Given the description of an element on the screen output the (x, y) to click on. 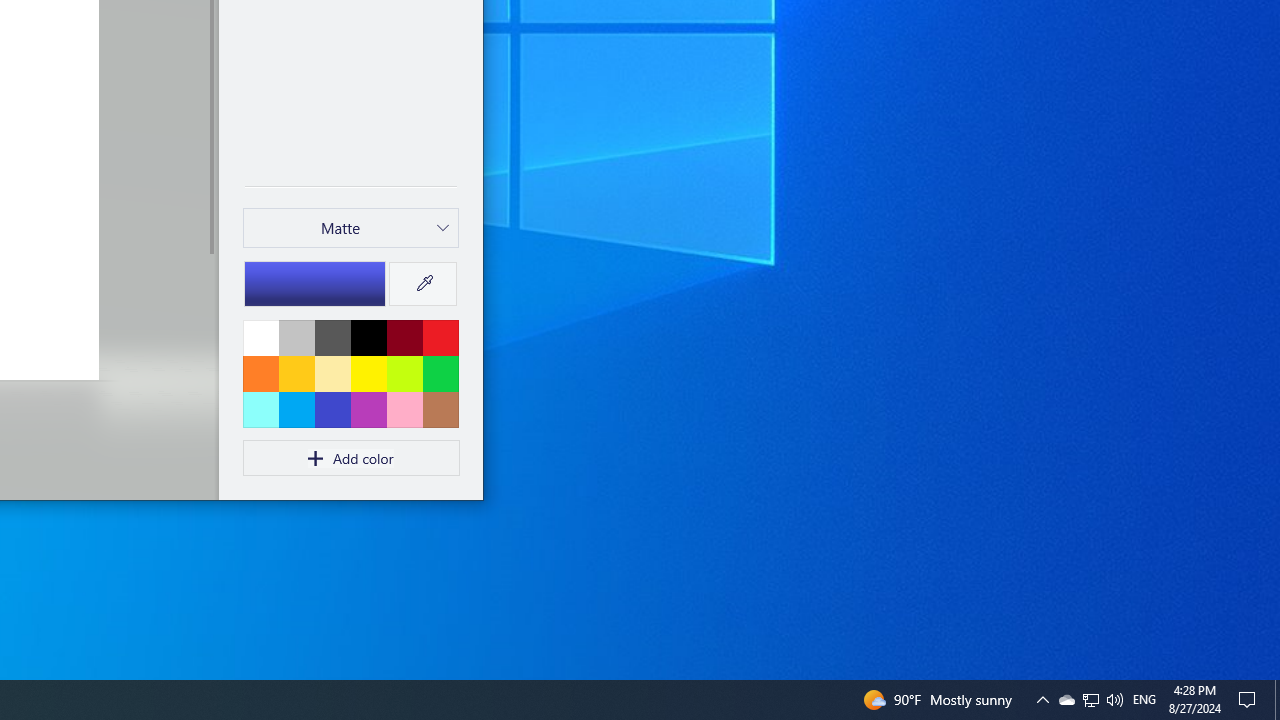
Current color: (315, 283)
White (261, 337)
Dark grey (332, 337)
Light yellow (332, 373)
Aqua (261, 409)
Choose a material (351, 227)
Matte (340, 228)
Rose (404, 409)
Pink (368, 409)
Black (368, 337)
Indigo (332, 409)
Vertical Large Increase (210, 369)
